Given the description of an element on the screen output the (x, y) to click on. 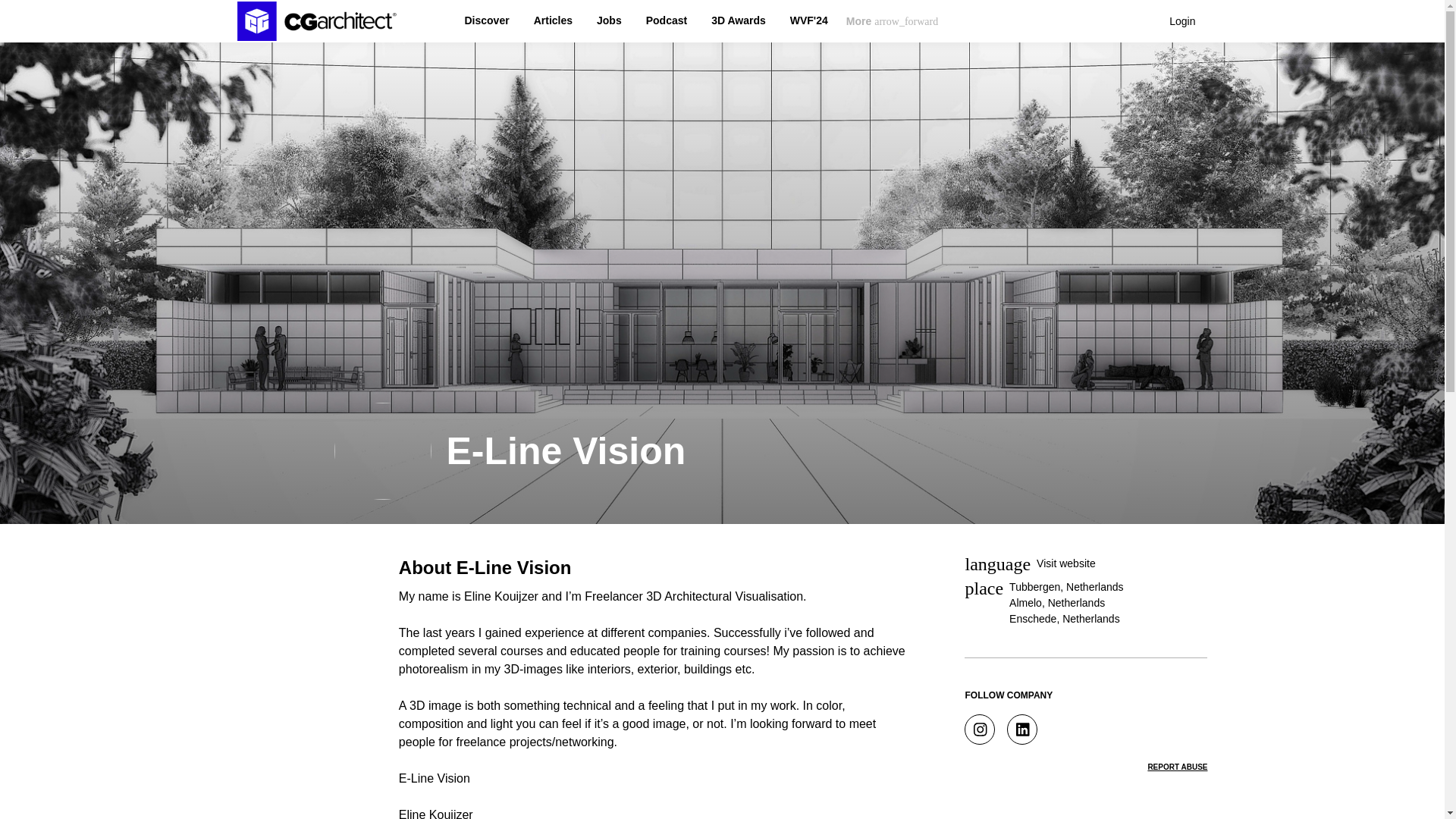
Articles (553, 21)
Jobs (608, 21)
3D Awards (738, 21)
REPORT ABUSE (1177, 766)
LinkedIn (1021, 729)
Login (1182, 21)
Instagram (978, 729)
E-Line Vision (565, 450)
WVF'24 (809, 21)
Podcast (666, 21)
